Given the description of an element on the screen output the (x, y) to click on. 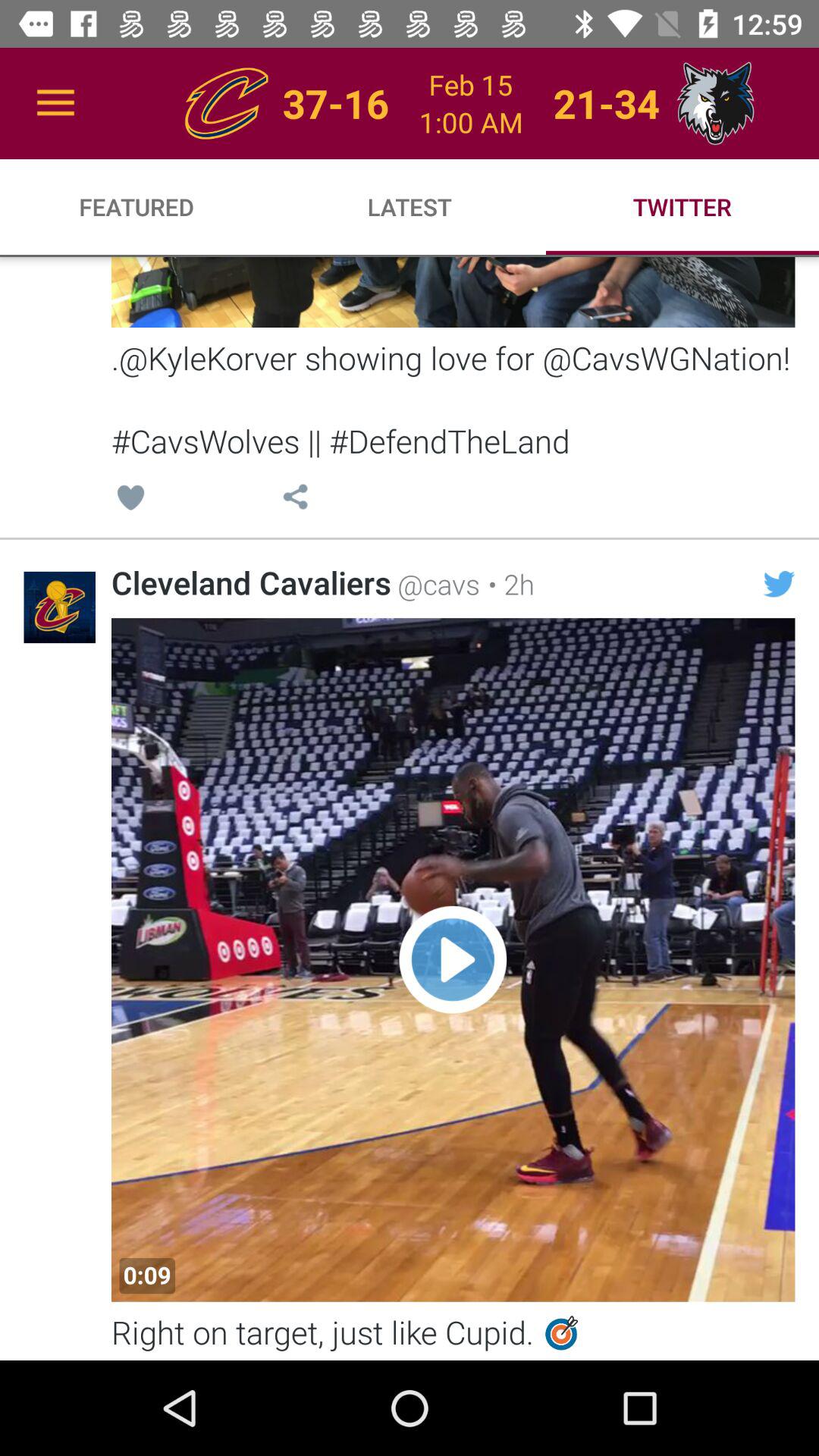
click item on the right (779, 584)
